Given the description of an element on the screen output the (x, y) to click on. 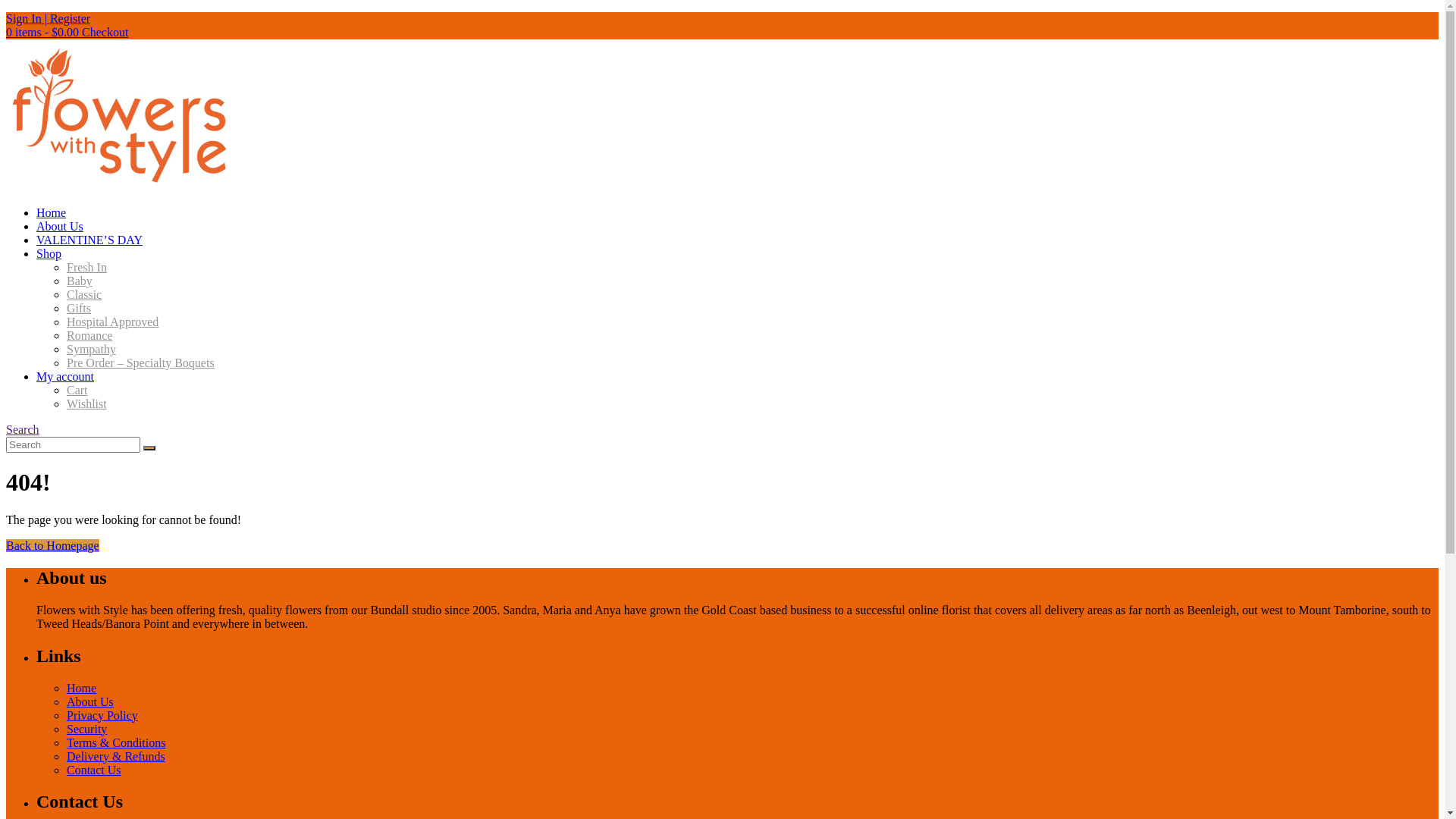
Privacy Policy Element type: text (102, 714)
0 items - $0.00 Checkout Element type: text (67, 31)
Back to Homepage Element type: text (52, 545)
Classic Element type: text (83, 294)
Search for: Element type: hover (73, 444)
Contact Us Element type: text (93, 768)
My account Element type: text (65, 376)
Sign In | Register Element type: text (48, 18)
Security Element type: text (86, 727)
Hospital Approved Element type: text (112, 321)
Baby Element type: text (79, 280)
Shop Element type: text (48, 253)
Search Element type: text (22, 429)
Gifts Element type: text (78, 307)
About Us Element type: text (59, 225)
About Us Element type: text (89, 700)
Sympathy Element type: text (91, 348)
Cart Element type: text (76, 389)
Terms & Conditions Element type: text (115, 741)
Home Element type: text (81, 686)
Wishlist Element type: text (86, 403)
Delivery & Refunds Element type: text (115, 755)
Home Element type: text (50, 212)
Fresh In Element type: text (86, 266)
Romance Element type: text (89, 335)
